Given the description of an element on the screen output the (x, y) to click on. 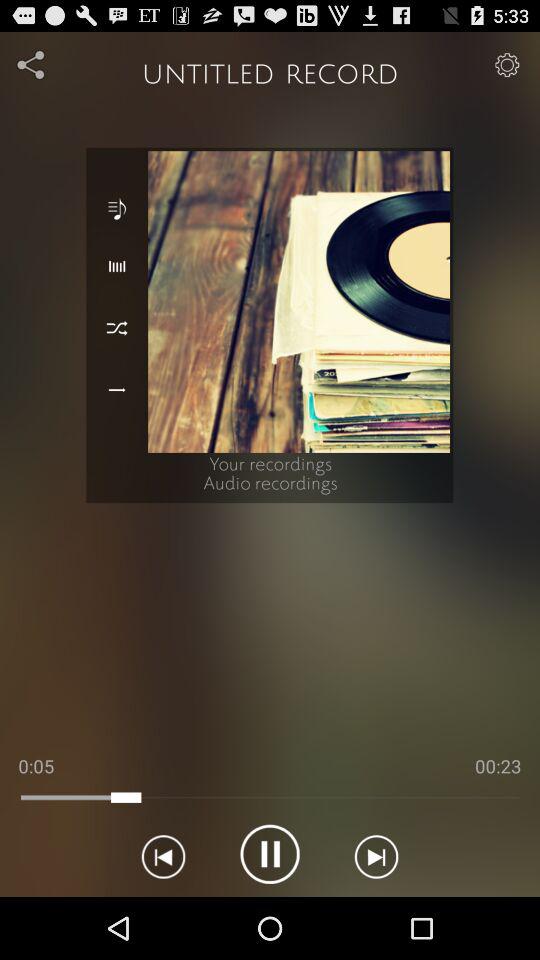
go to setting (32, 64)
